Given the description of an element on the screen output the (x, y) to click on. 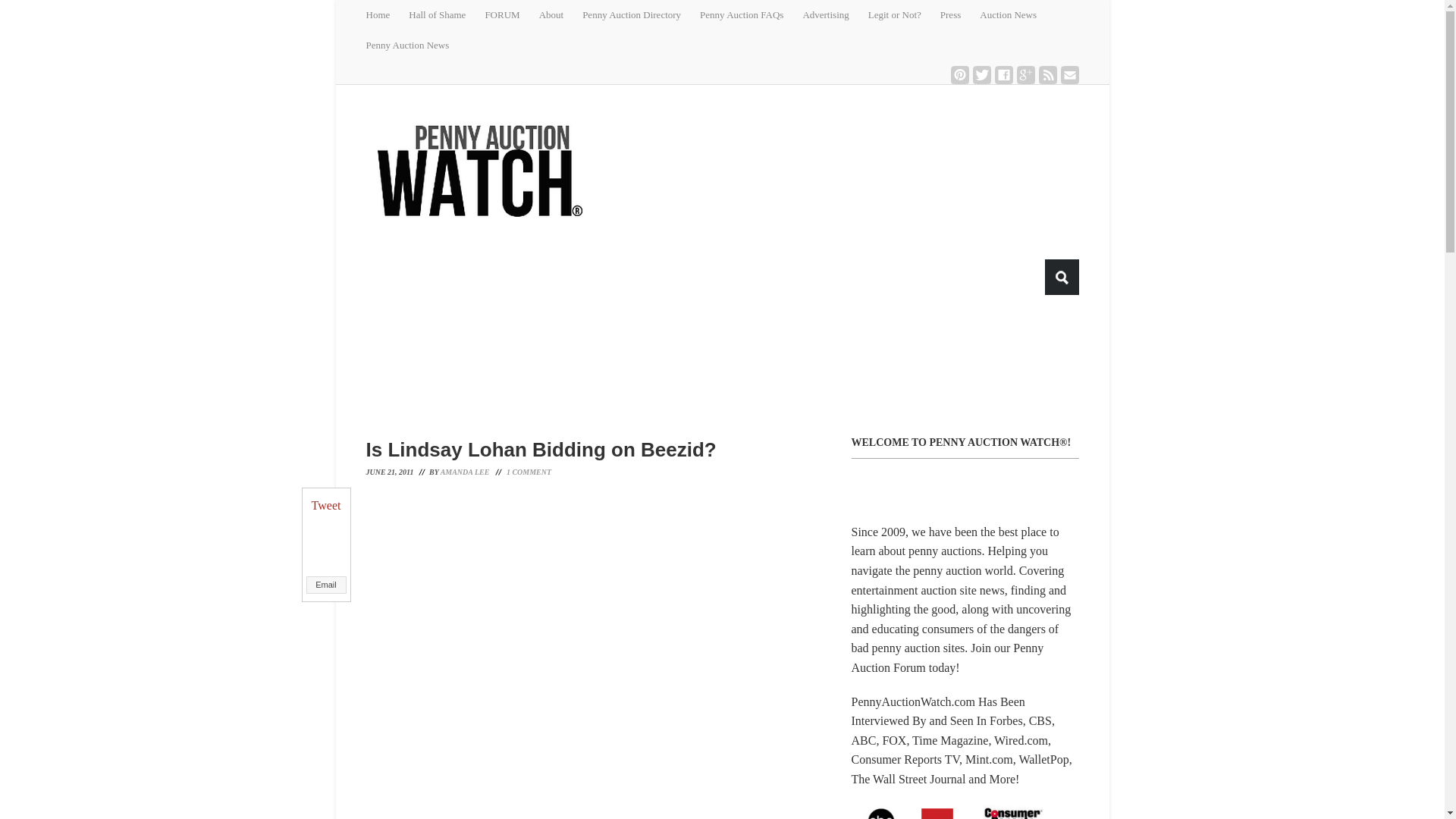
Google Plus (1024, 75)
Penny Auction FAQs (751, 15)
Advertising (834, 15)
Twitter (981, 75)
Press (959, 15)
Email (1068, 75)
Hall of Shame (446, 15)
Advertisement (732, 365)
Pinterest (959, 75)
Home (387, 15)
FORUM (511, 15)
Penny Auction Directory (641, 15)
AMANDA LEE (465, 471)
Penny Auction News (416, 45)
2011-06-21 (395, 471)
